Given the description of an element on the screen output the (x, y) to click on. 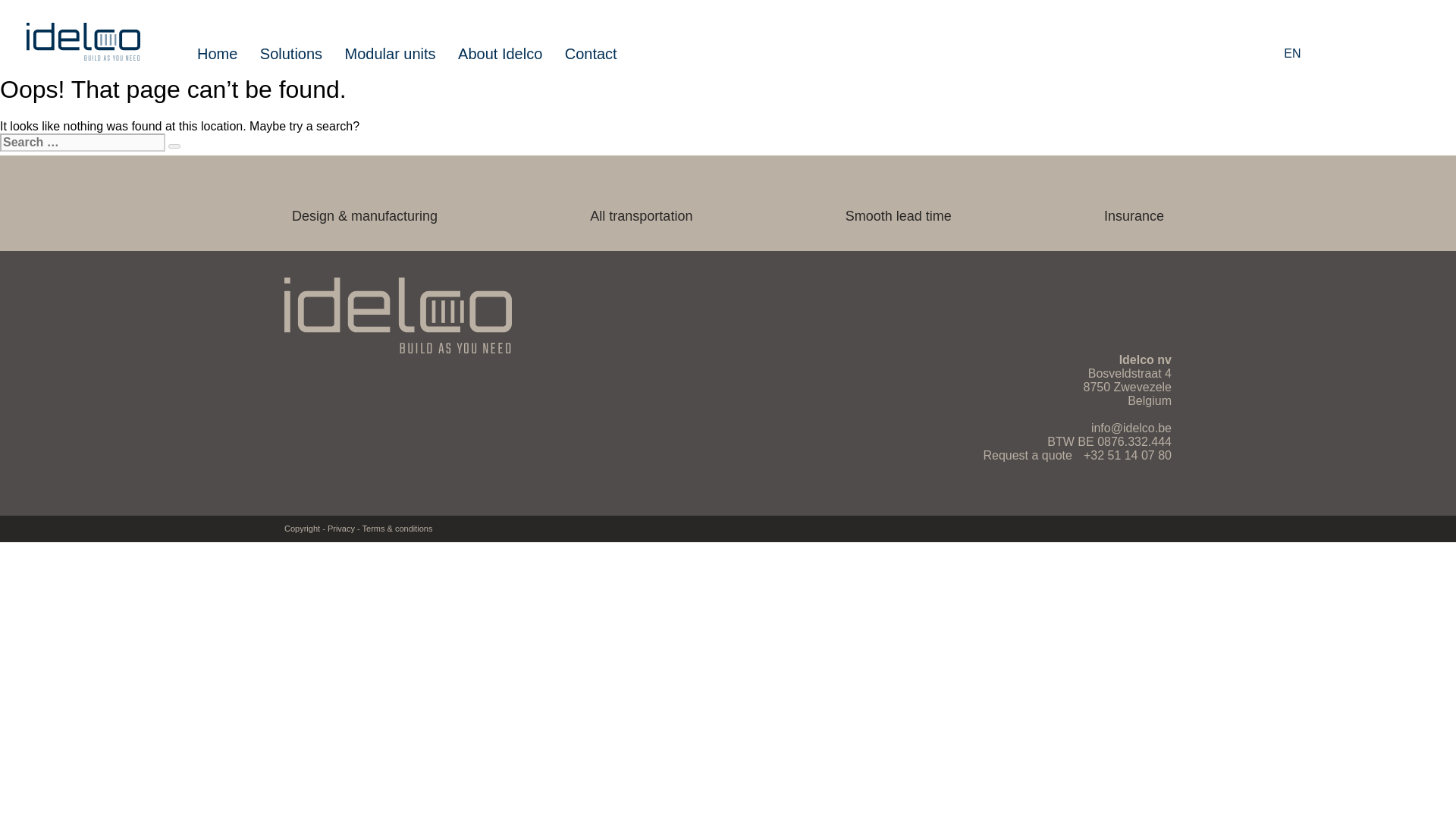
About Idelco (499, 53)
Solutions (290, 53)
Modular units (390, 53)
Home (216, 53)
Contact (590, 53)
Request a quote (1026, 455)
